Given the description of an element on the screen output the (x, y) to click on. 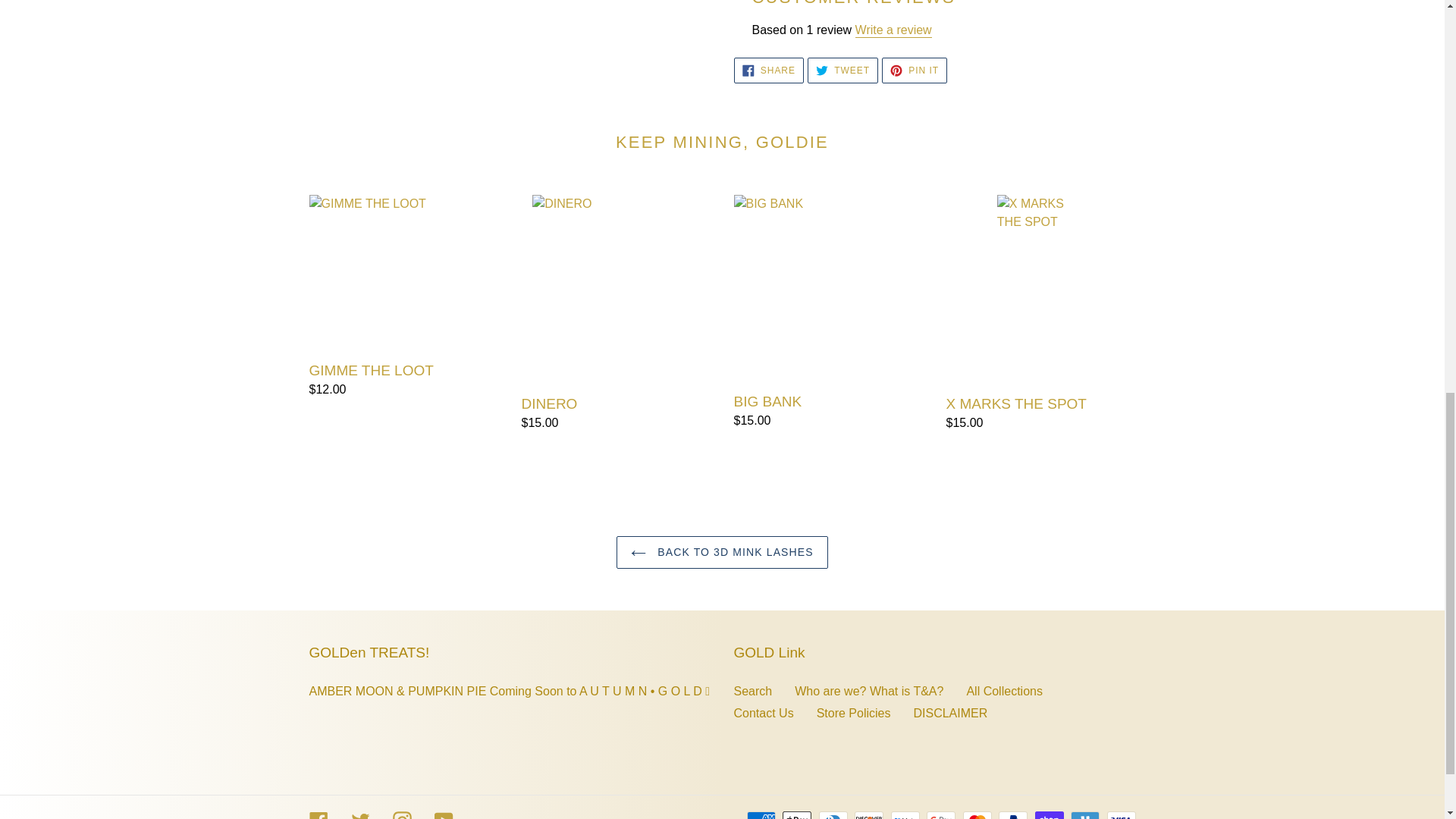
GIMME THE LOOT (768, 70)
Write a review (403, 296)
Search (893, 30)
All Collections (753, 690)
BACK TO 3D MINK LASHES (1004, 690)
